Given the description of an element on the screen output the (x, y) to click on. 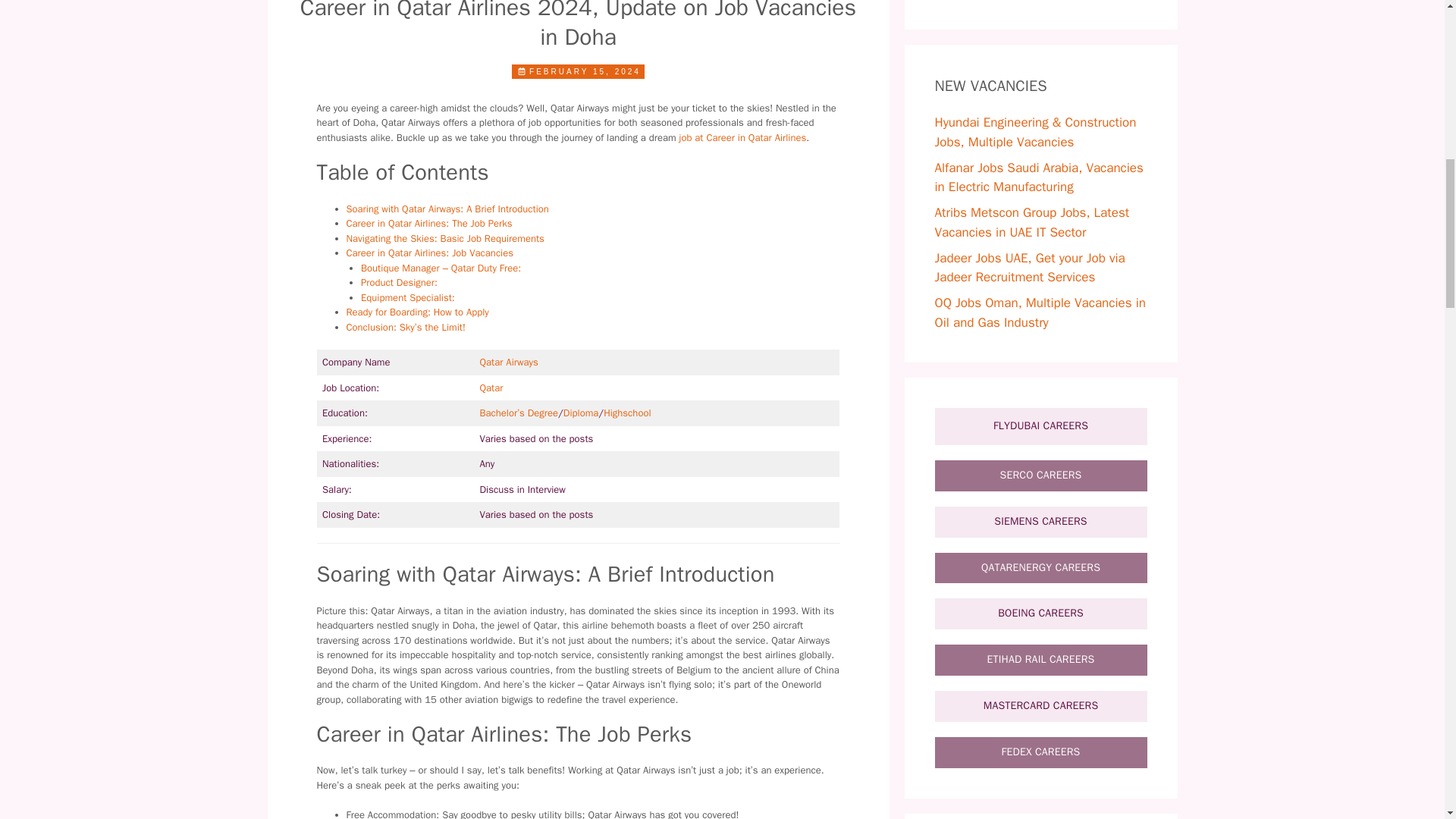
Highschool (627, 412)
Soaring with Qatar Airways: A Brief Introduction (447, 208)
Career in Qatar Airlines: The Job Perks (429, 223)
Ready for Boarding: How to Apply (416, 311)
Navigating the Skies: Basic Job Requirements (444, 237)
Equipment Specialist: (407, 297)
job at Career in Qatar Airlines (742, 137)
Scroll back to top (1406, 720)
Product Designer: (399, 282)
Diploma (580, 412)
Qatar (491, 387)
Career in Qatar Airlines: Job Vacancies (429, 252)
Qatar Airways (509, 361)
